Given the description of an element on the screen output the (x, y) to click on. 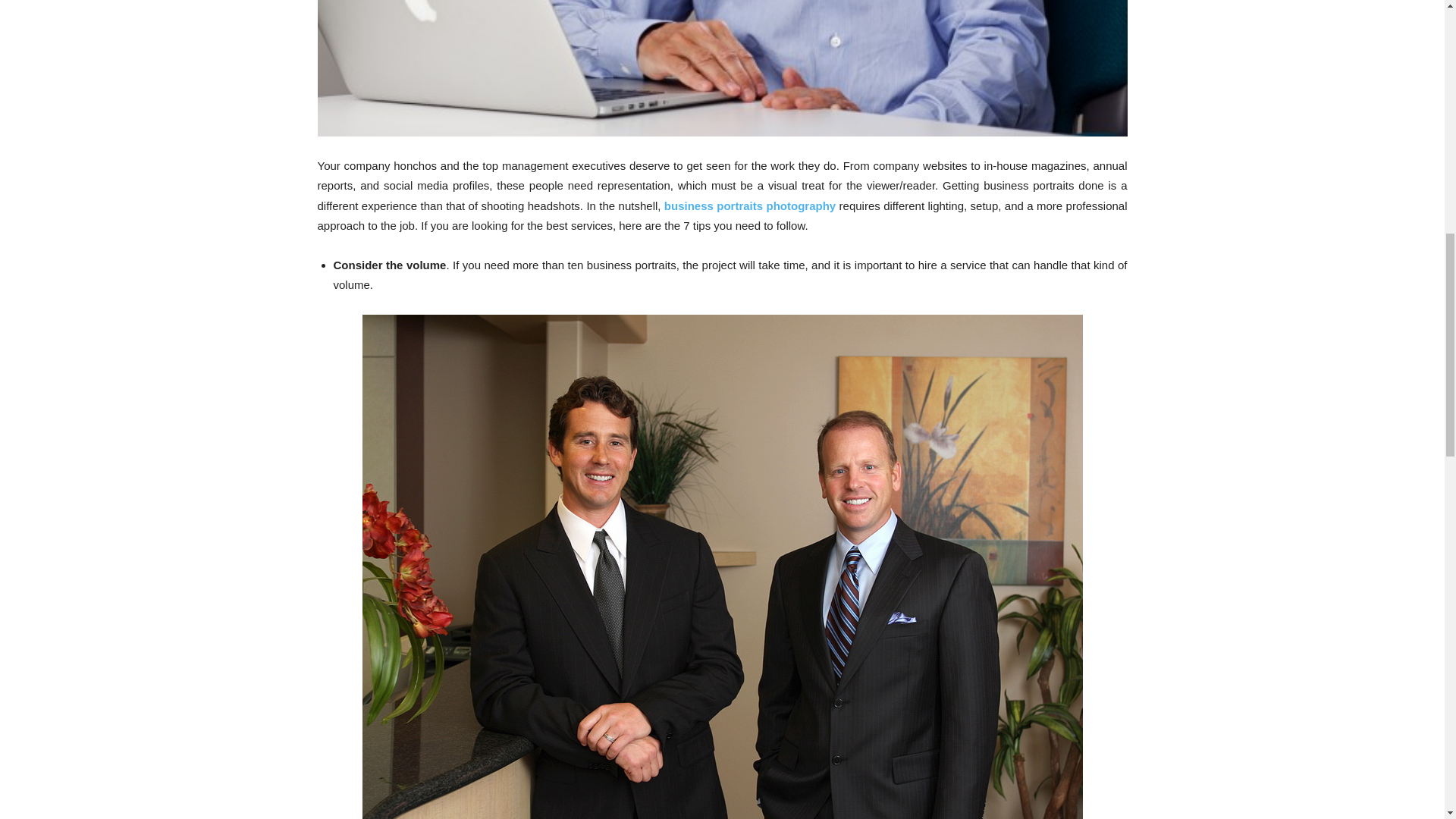
business portraits photography (749, 205)
